Given the description of an element on the screen output the (x, y) to click on. 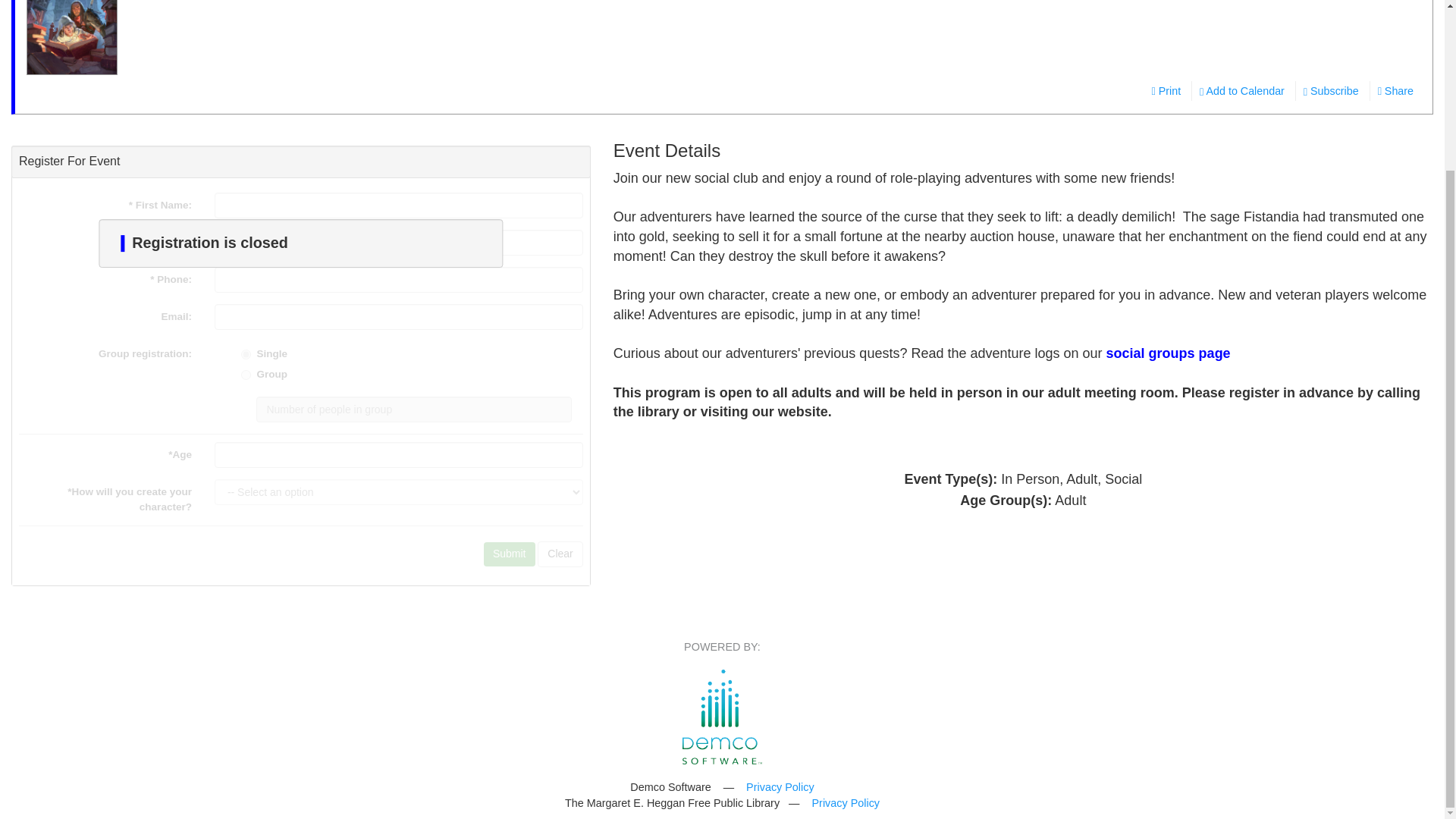
Privacy Policy (779, 787)
Add to Calendar (1241, 90)
Share (1395, 90)
Clear (559, 554)
Submit (509, 554)
Subscribe (1331, 90)
Privacy Policy (844, 802)
Print (1165, 90)
social groups page (1168, 353)
single (245, 354)
